Given the description of an element on the screen output the (x, y) to click on. 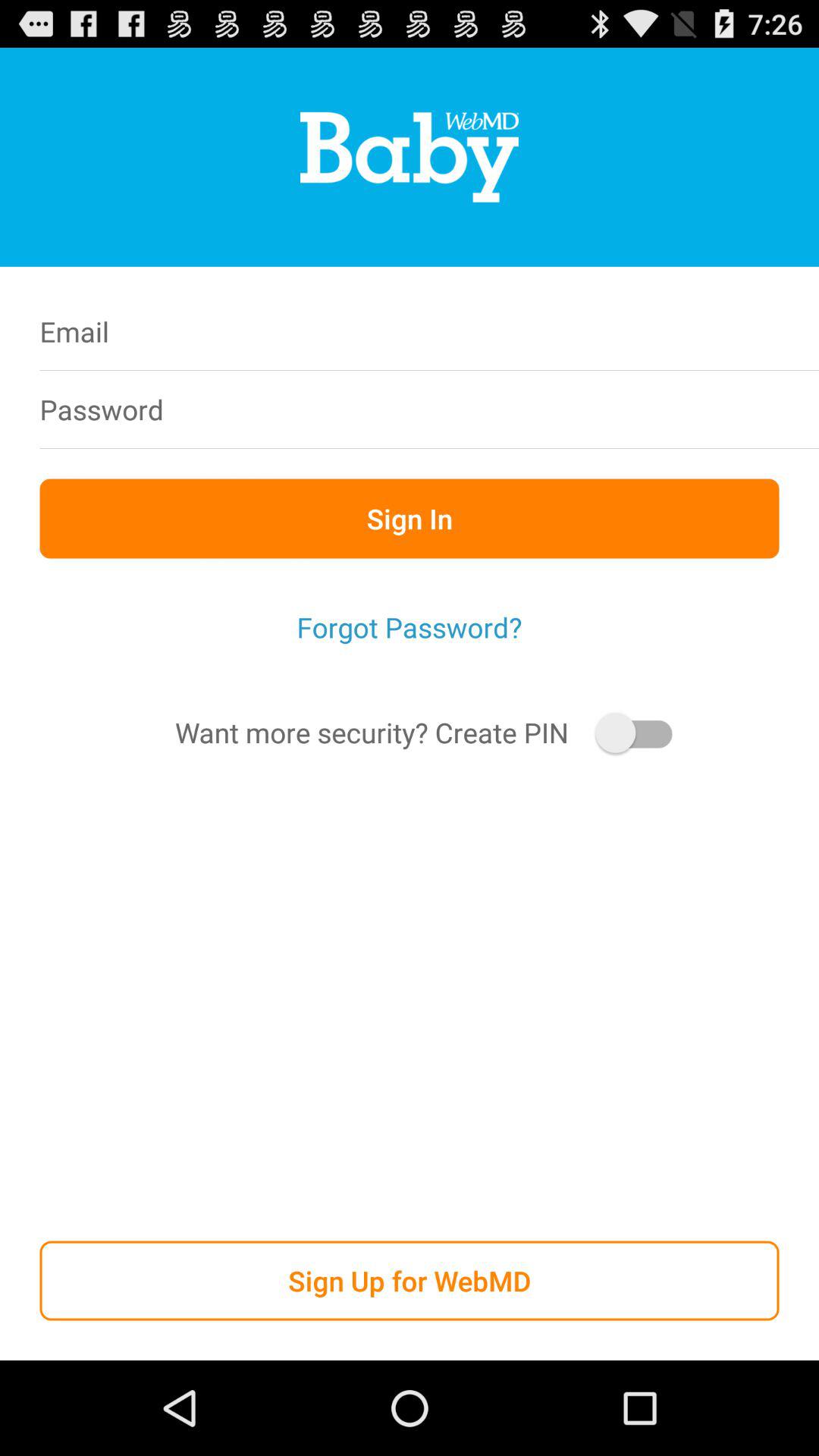
tap item at the bottom (409, 1280)
